Given the description of an element on the screen output the (x, y) to click on. 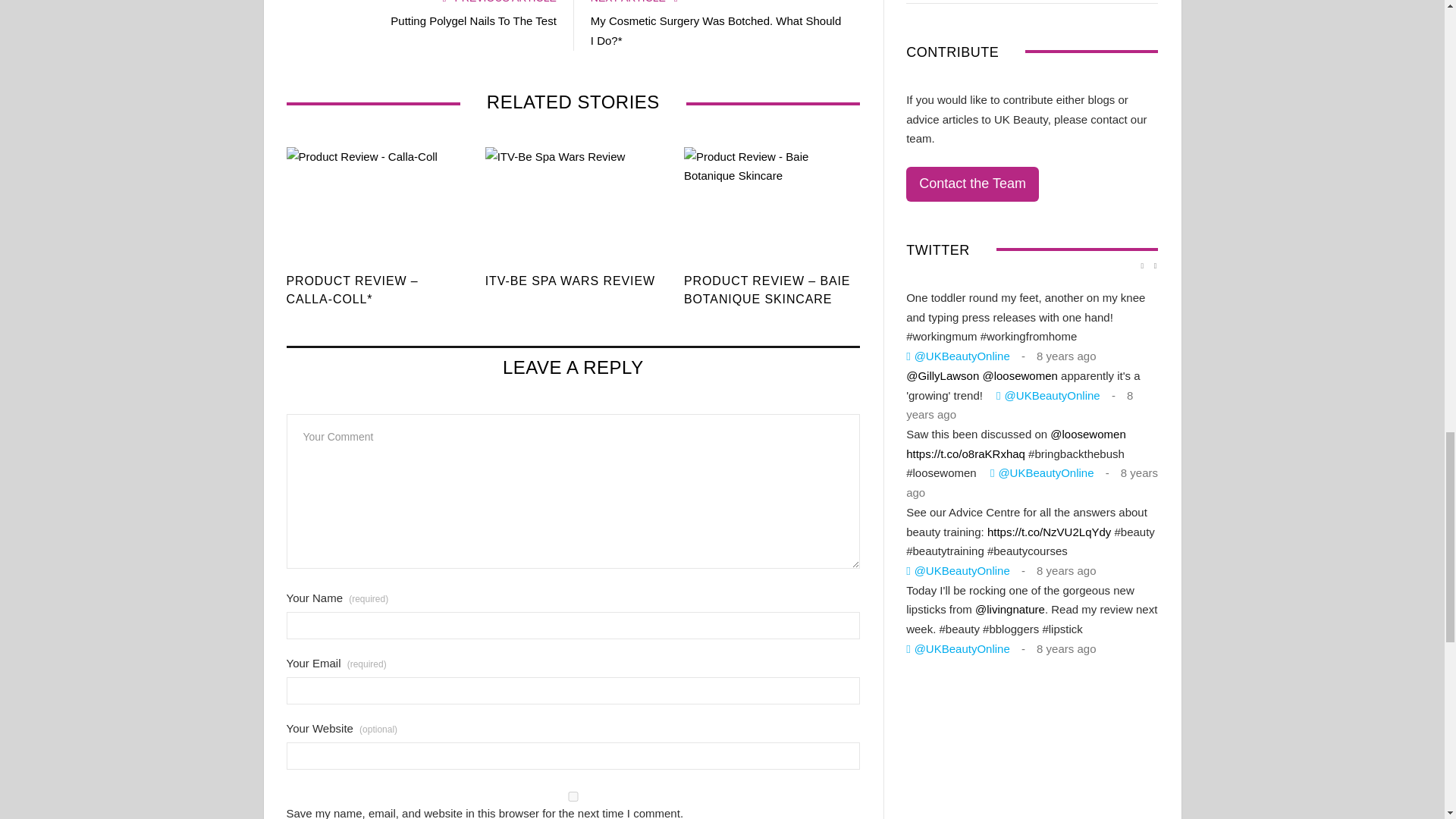
yes (573, 796)
